Given the description of an element on the screen output the (x, y) to click on. 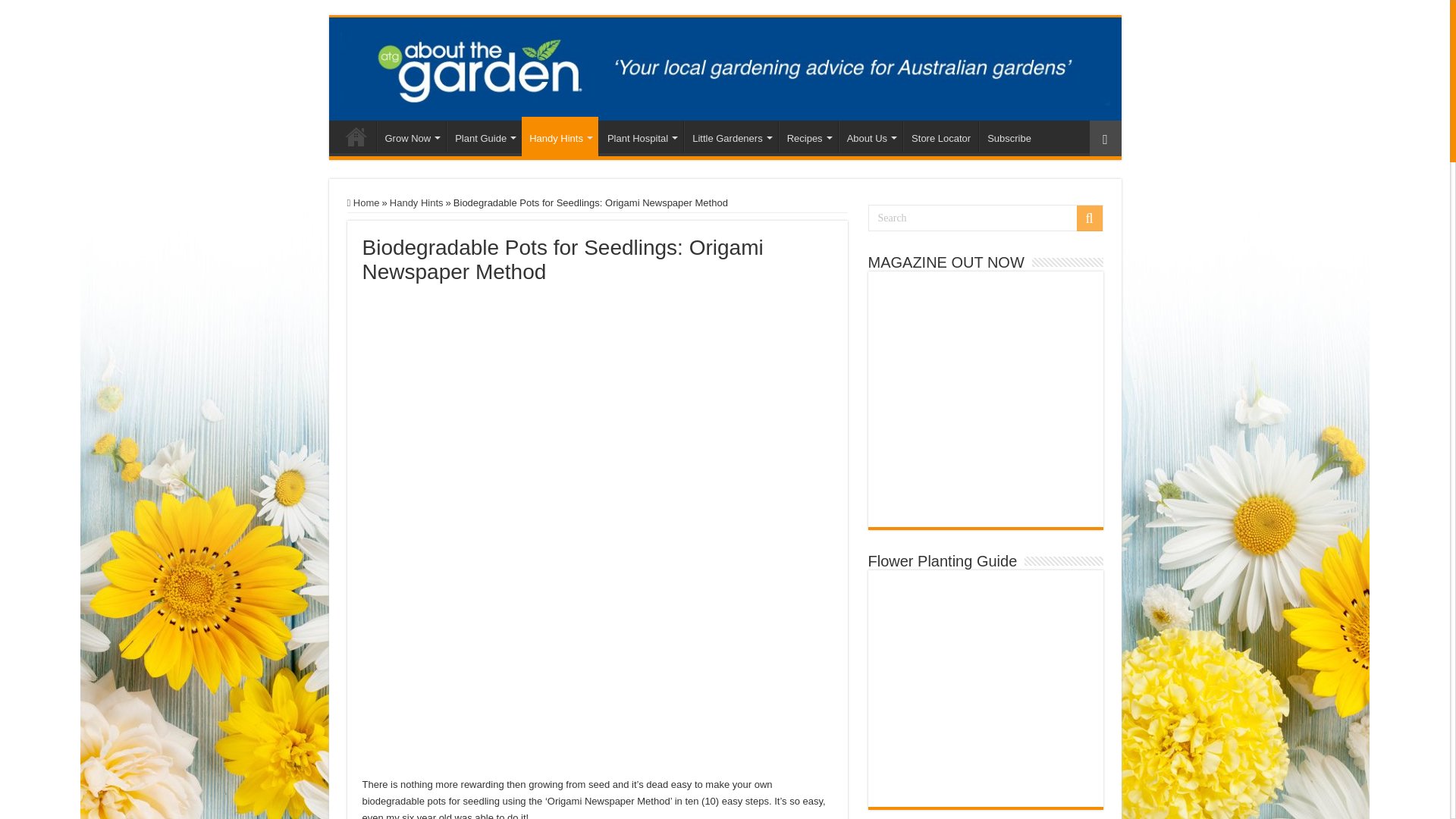
Search (984, 217)
Grow Now (410, 136)
Plant Hospital (640, 136)
Home (355, 136)
Plant Guide (483, 136)
Handy Hints (559, 136)
Random Article (1105, 138)
